Given the description of an element on the screen output the (x, y) to click on. 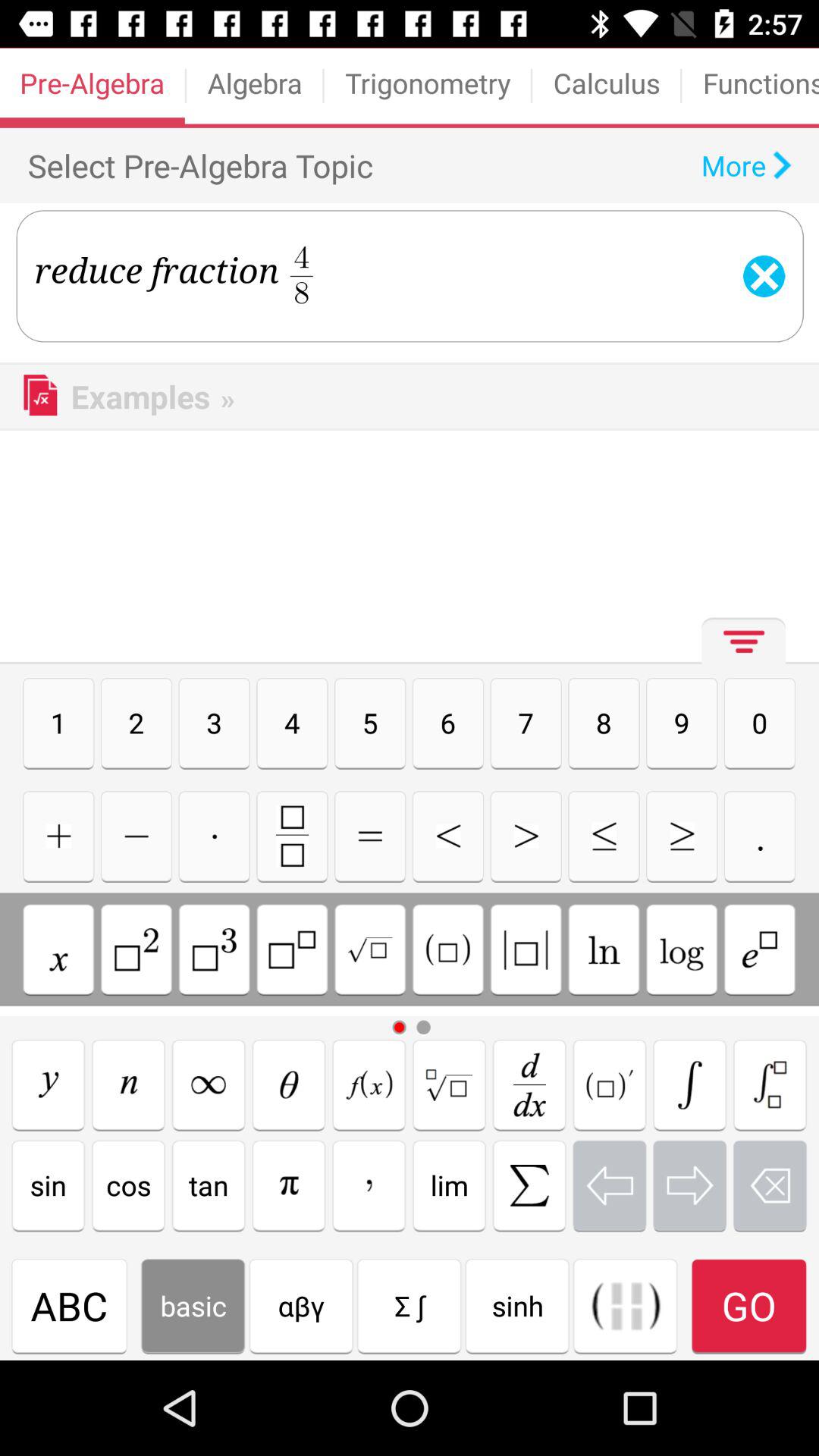
integral of using maths (689, 1084)
